Given the description of an element on the screen output the (x, y) to click on. 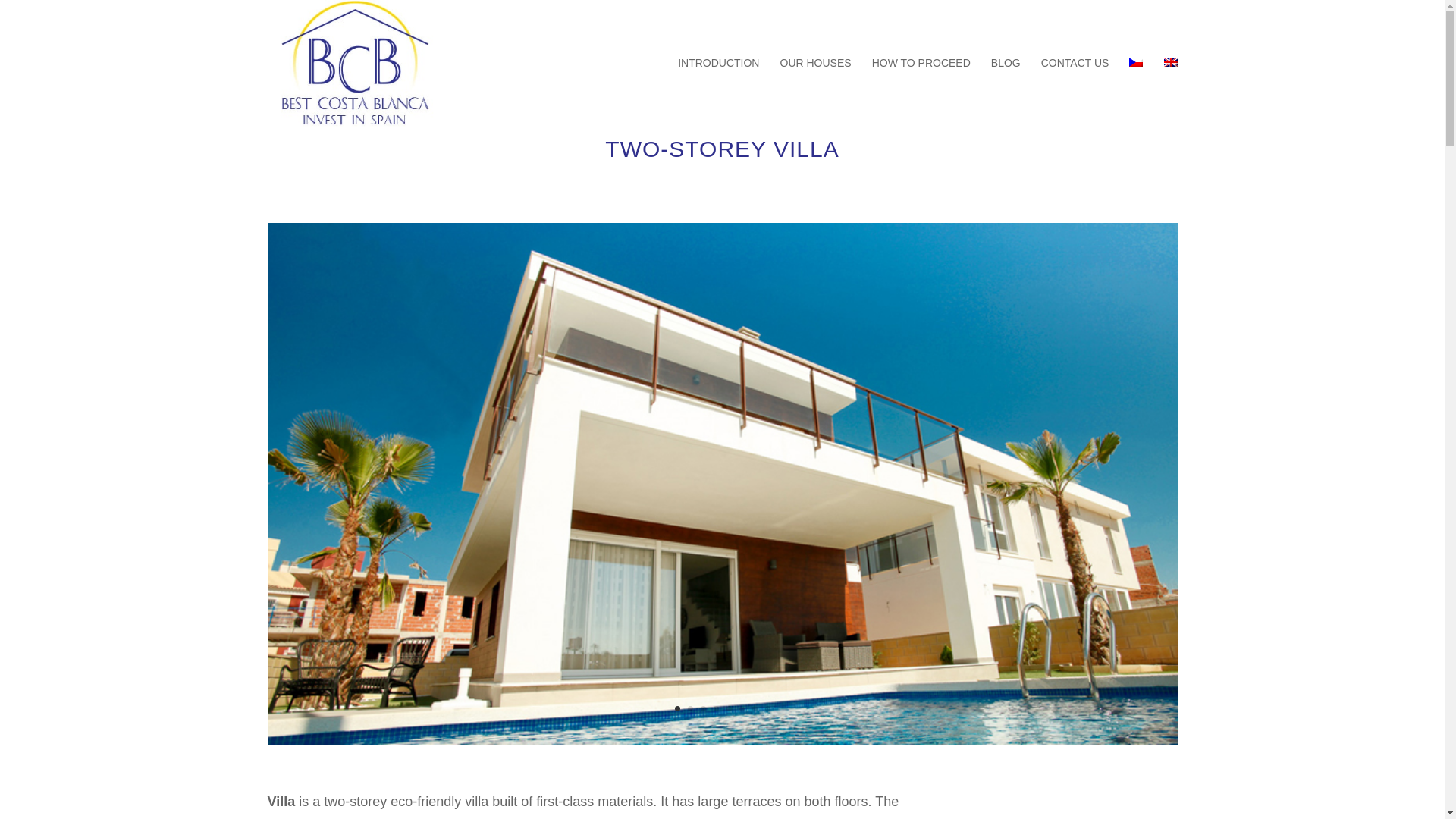
6 (741, 708)
8 (767, 708)
5 (729, 708)
INTRODUCTION (718, 91)
2 (690, 708)
HOW TO PROCEED (921, 91)
OUR HOUSES (814, 91)
